Given the description of an element on the screen output the (x, y) to click on. 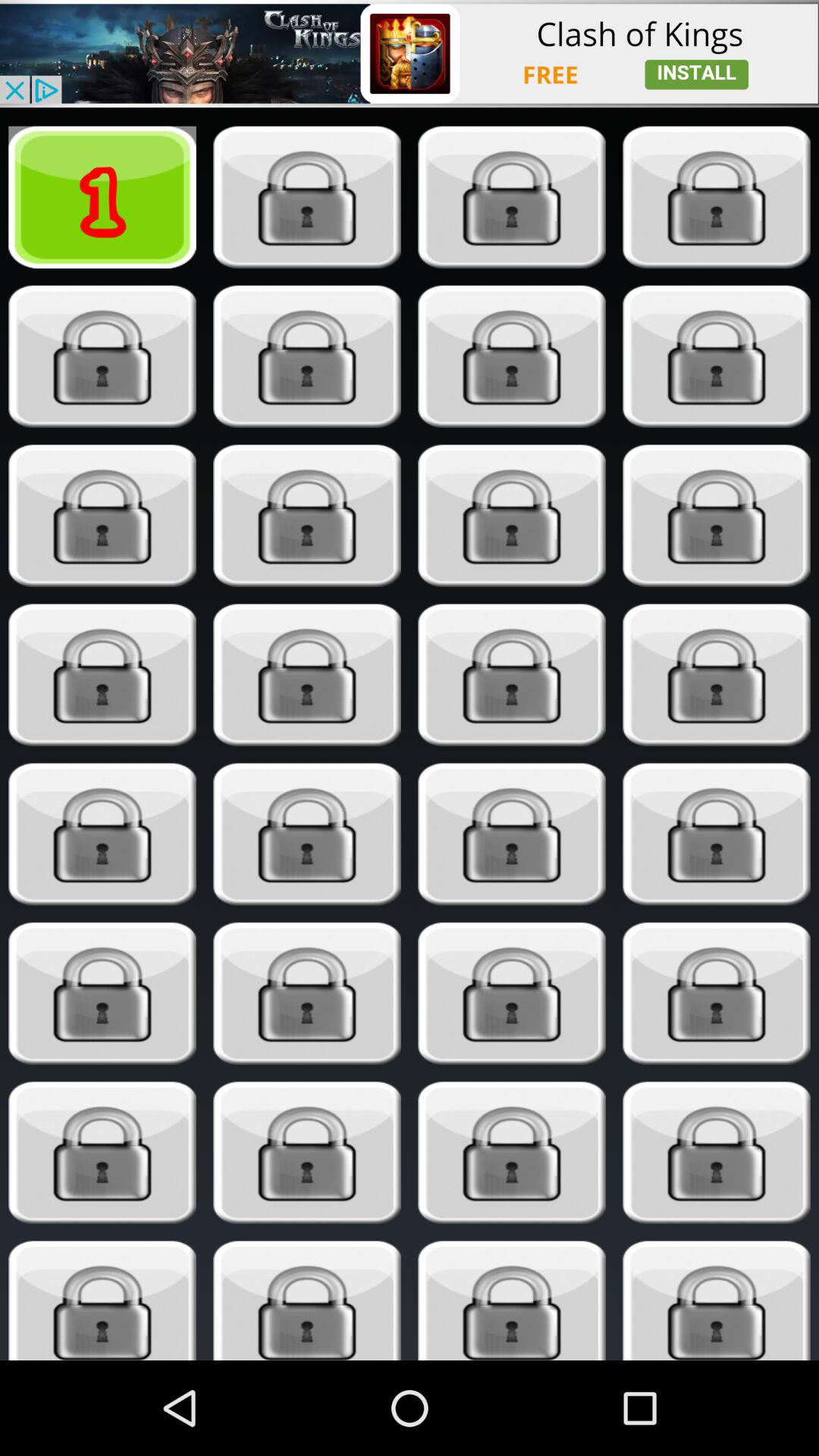
unlock item (716, 675)
